Given the description of an element on the screen output the (x, y) to click on. 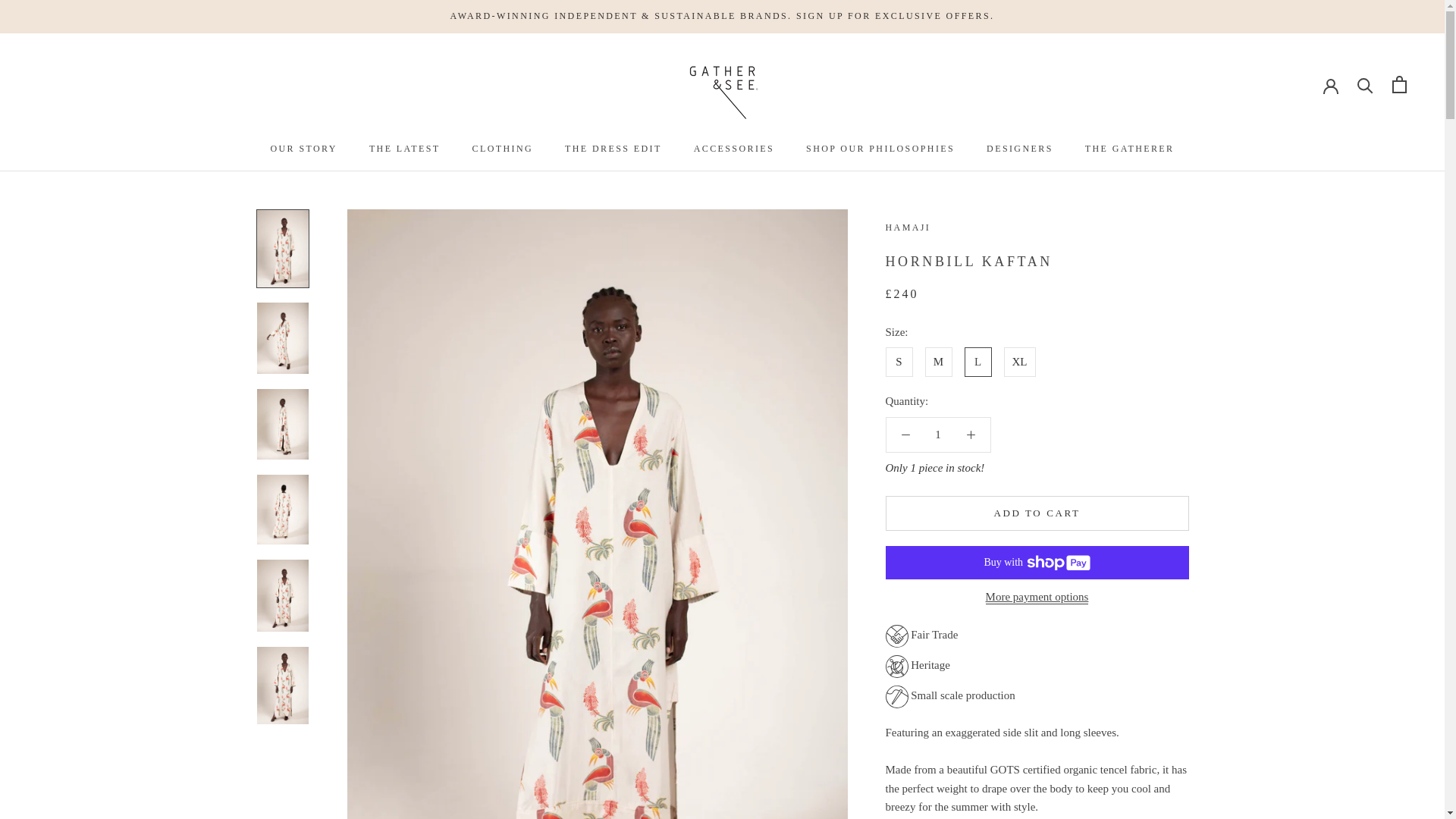
1 (938, 434)
Fair Trade (1029, 635)
Small scale production (1037, 696)
Heritage (1029, 666)
